Given the description of an element on the screen output the (x, y) to click on. 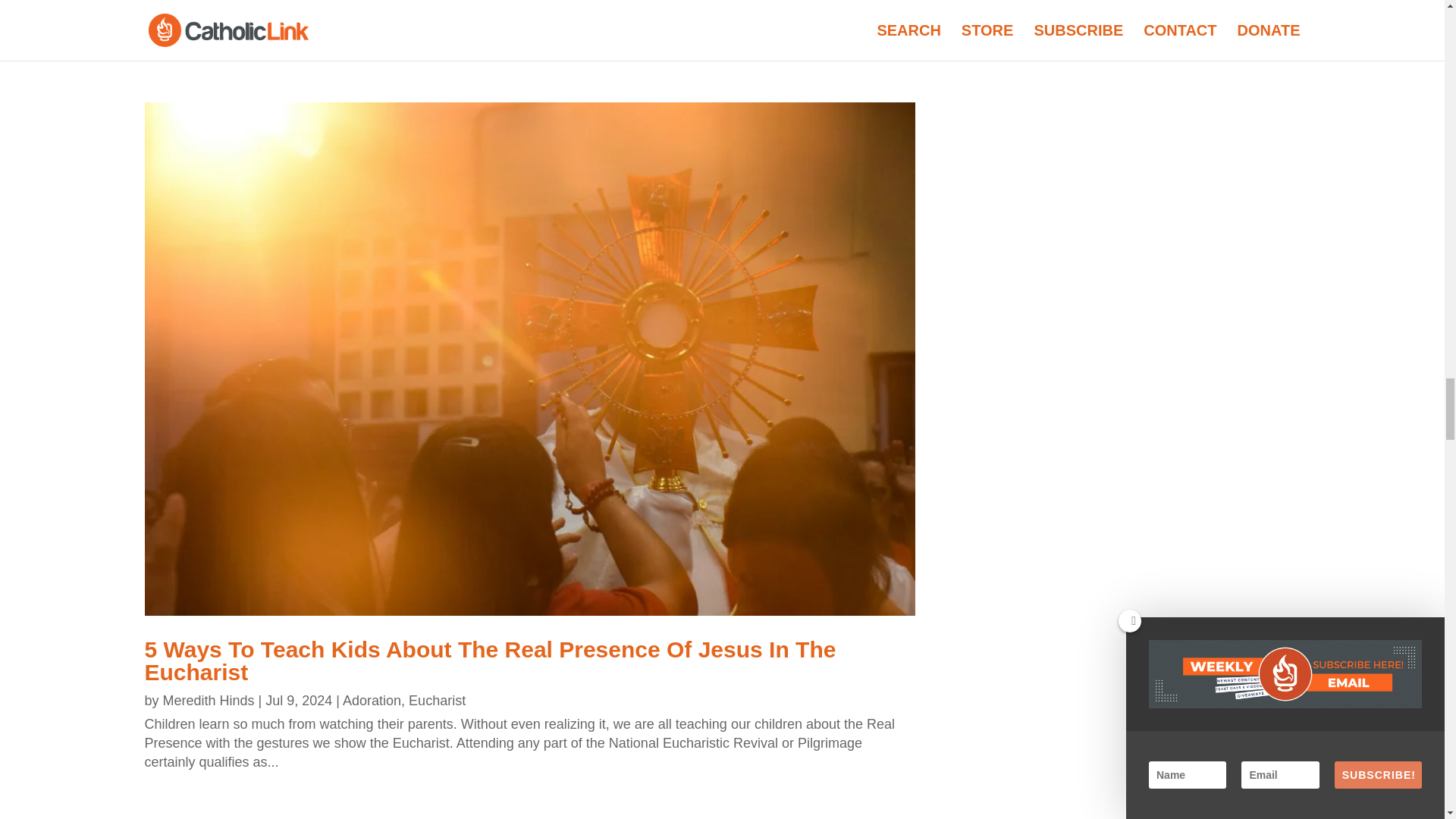
Posts by Meredith Hinds (208, 700)
